Given the description of an element on the screen output the (x, y) to click on. 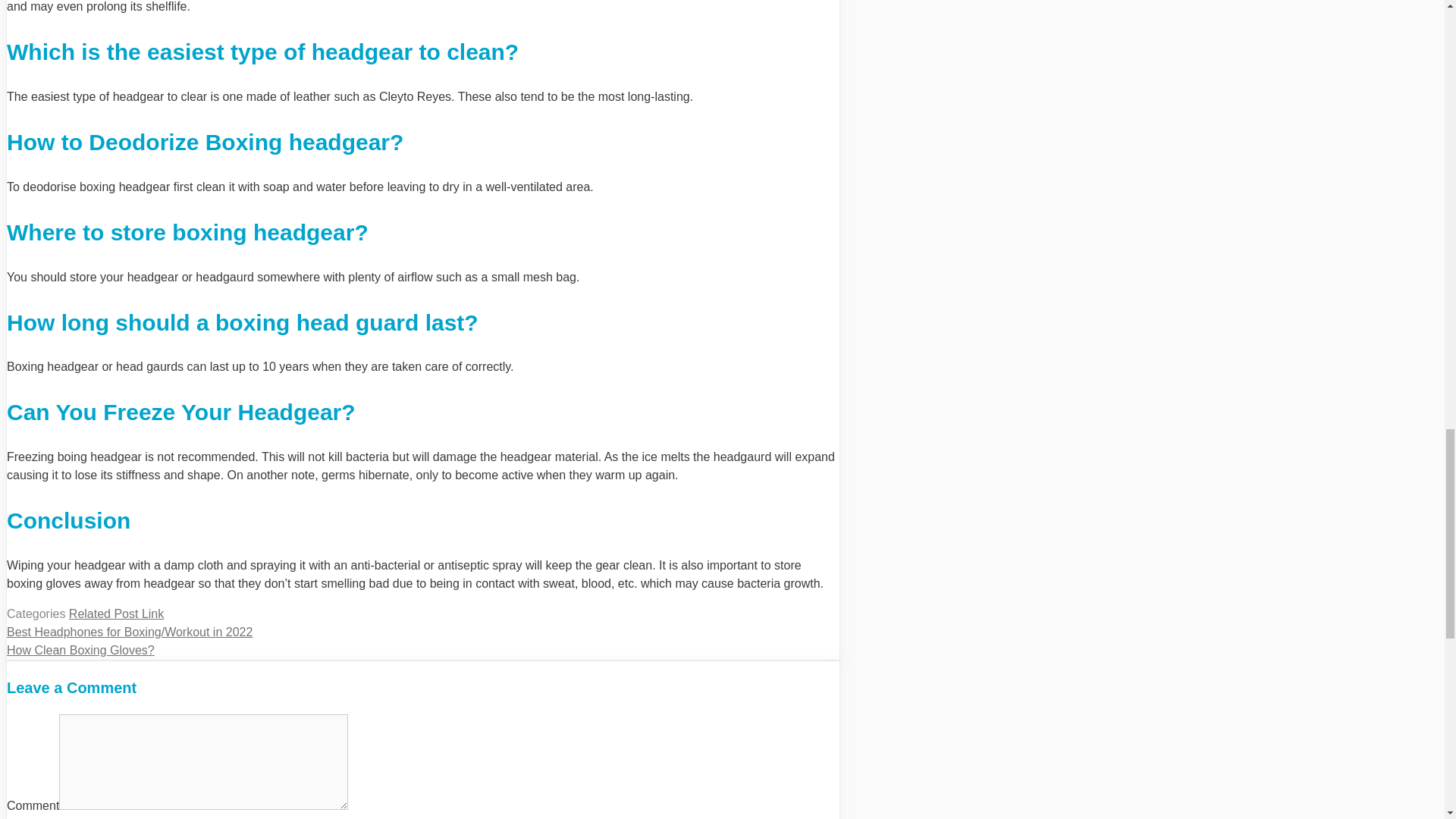
How Clean Boxing Gloves? (80, 649)
Related Post Link (115, 613)
